Given the description of an element on the screen output the (x, y) to click on. 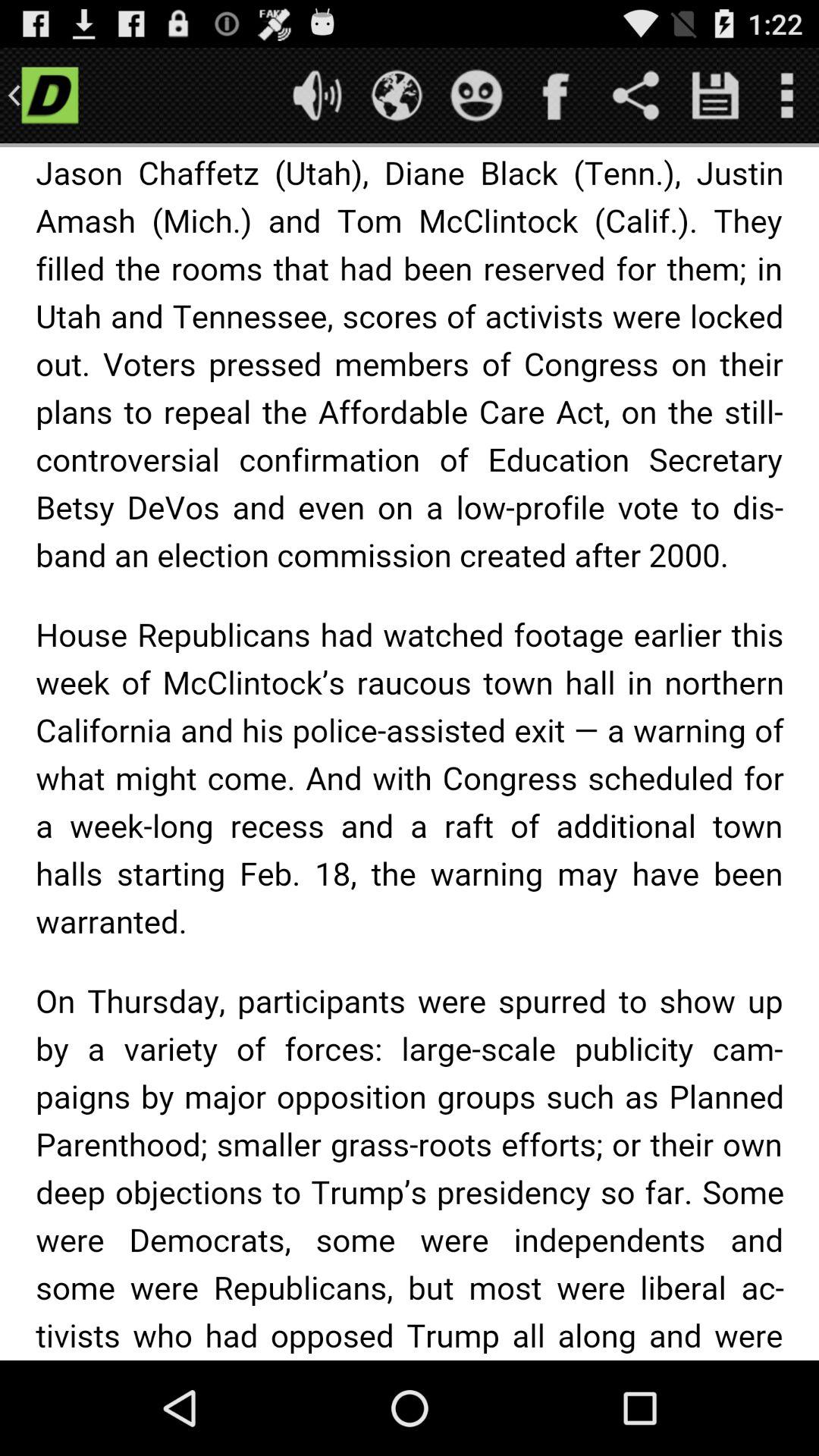
article text (409, 753)
